Given the description of an element on the screen output the (x, y) to click on. 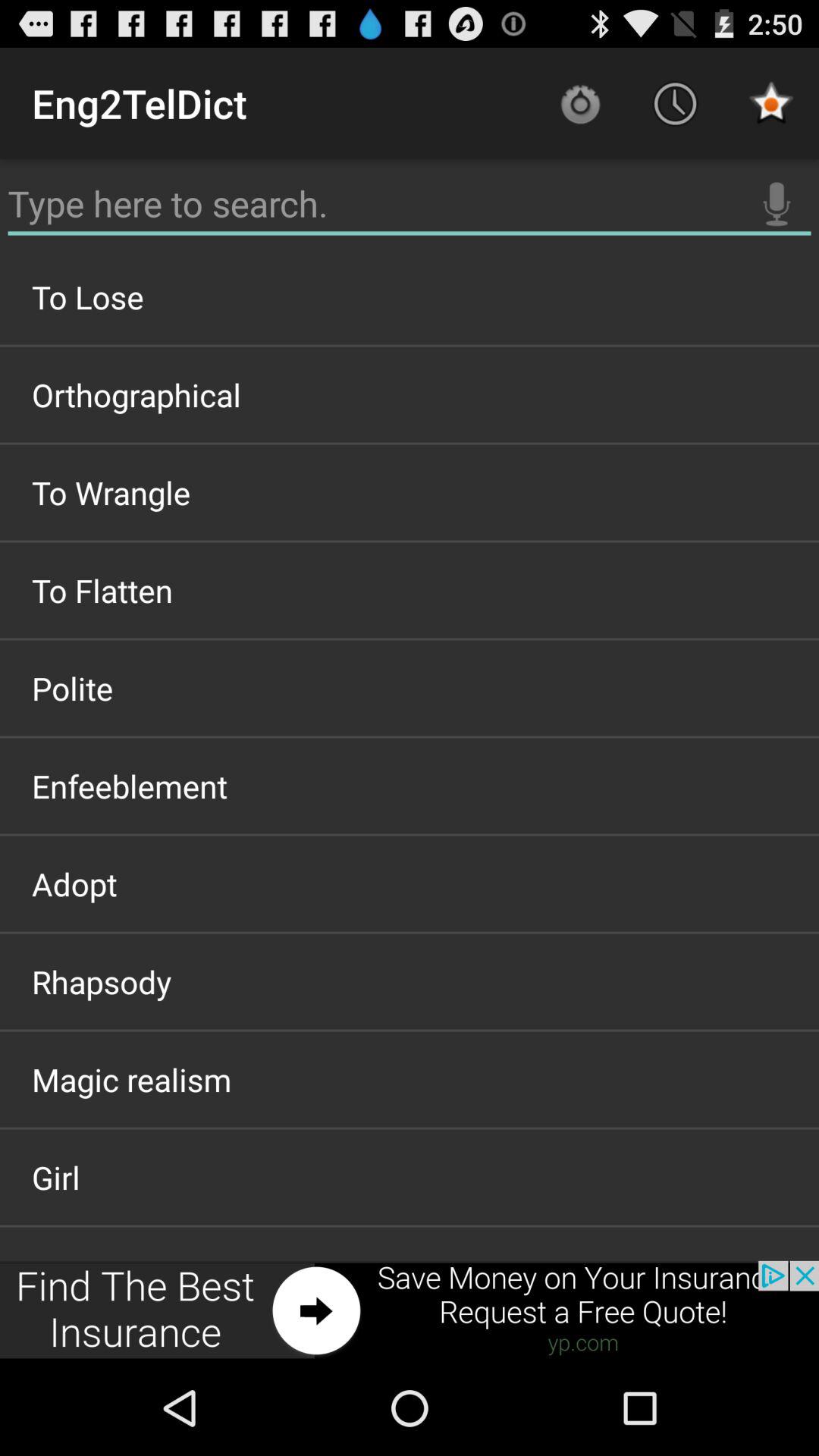
toggle keyboard (409, 204)
